Given the description of an element on the screen output the (x, y) to click on. 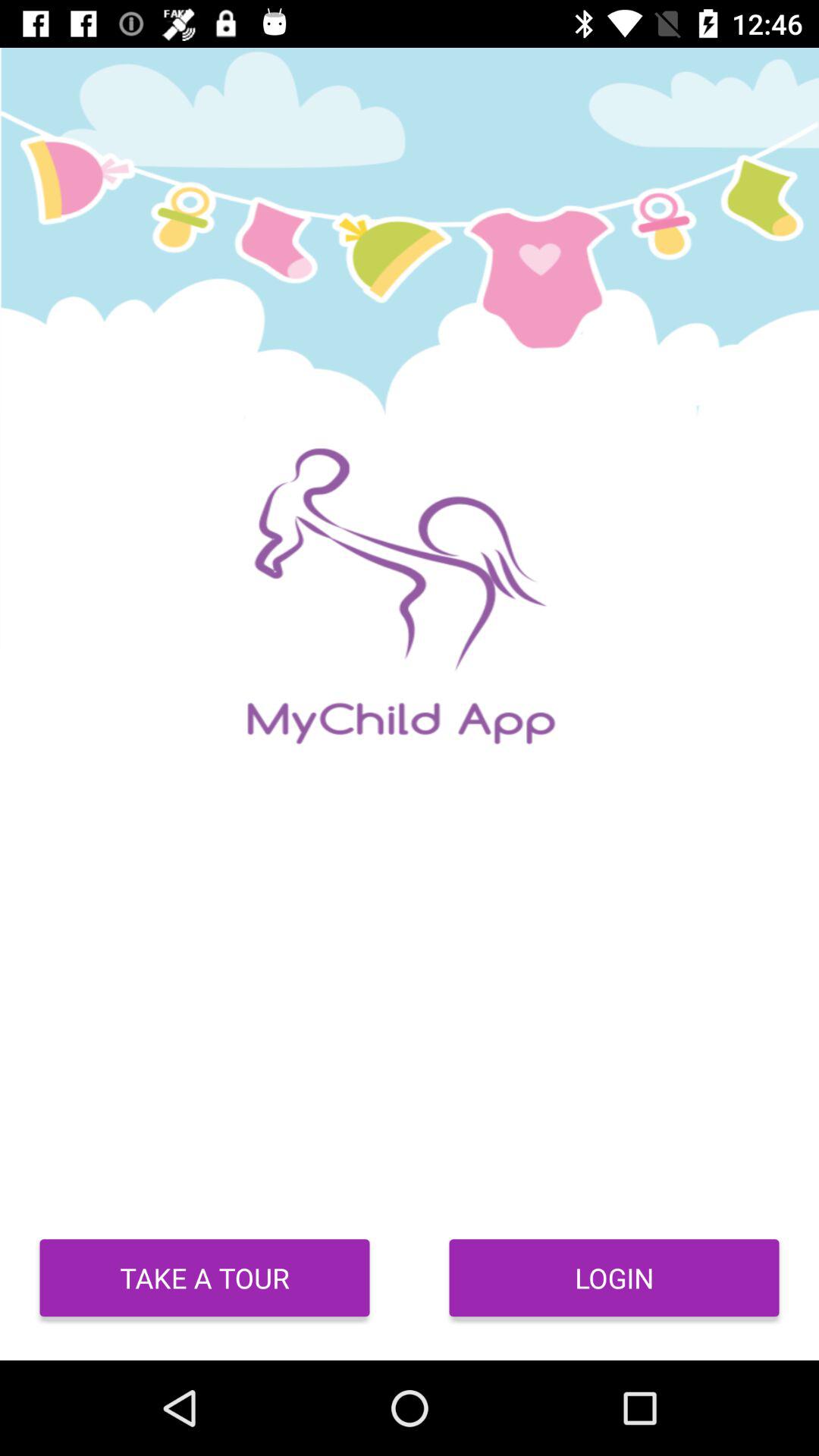
tap the item at the bottom right corner (614, 1277)
